Given the description of an element on the screen output the (x, y) to click on. 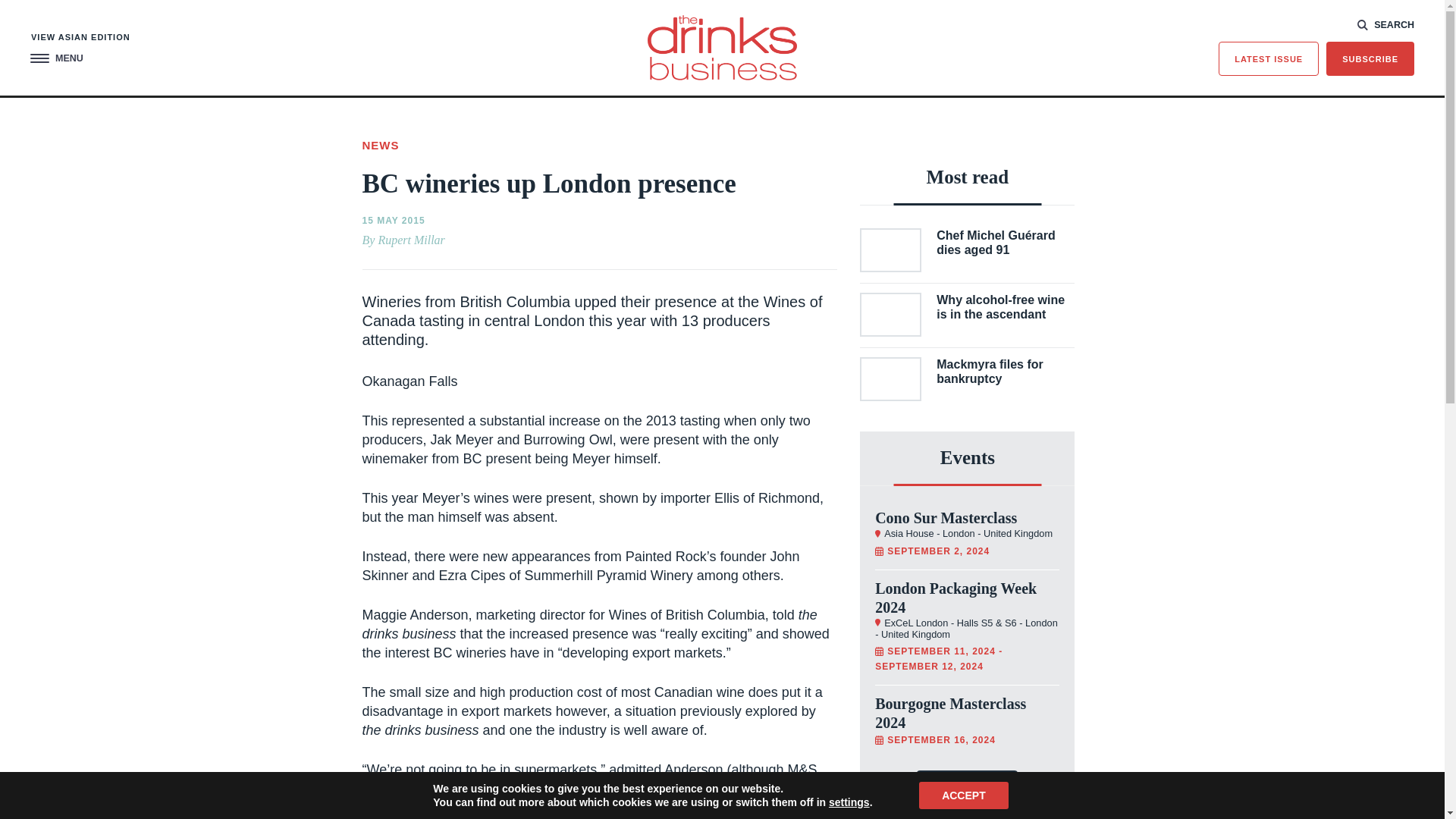
VIEW ASIAN EDITION (80, 37)
LATEST ISSUE (1268, 58)
The Drinks Business (721, 47)
SUBSCRIBE (1369, 58)
